Given the description of an element on the screen output the (x, y) to click on. 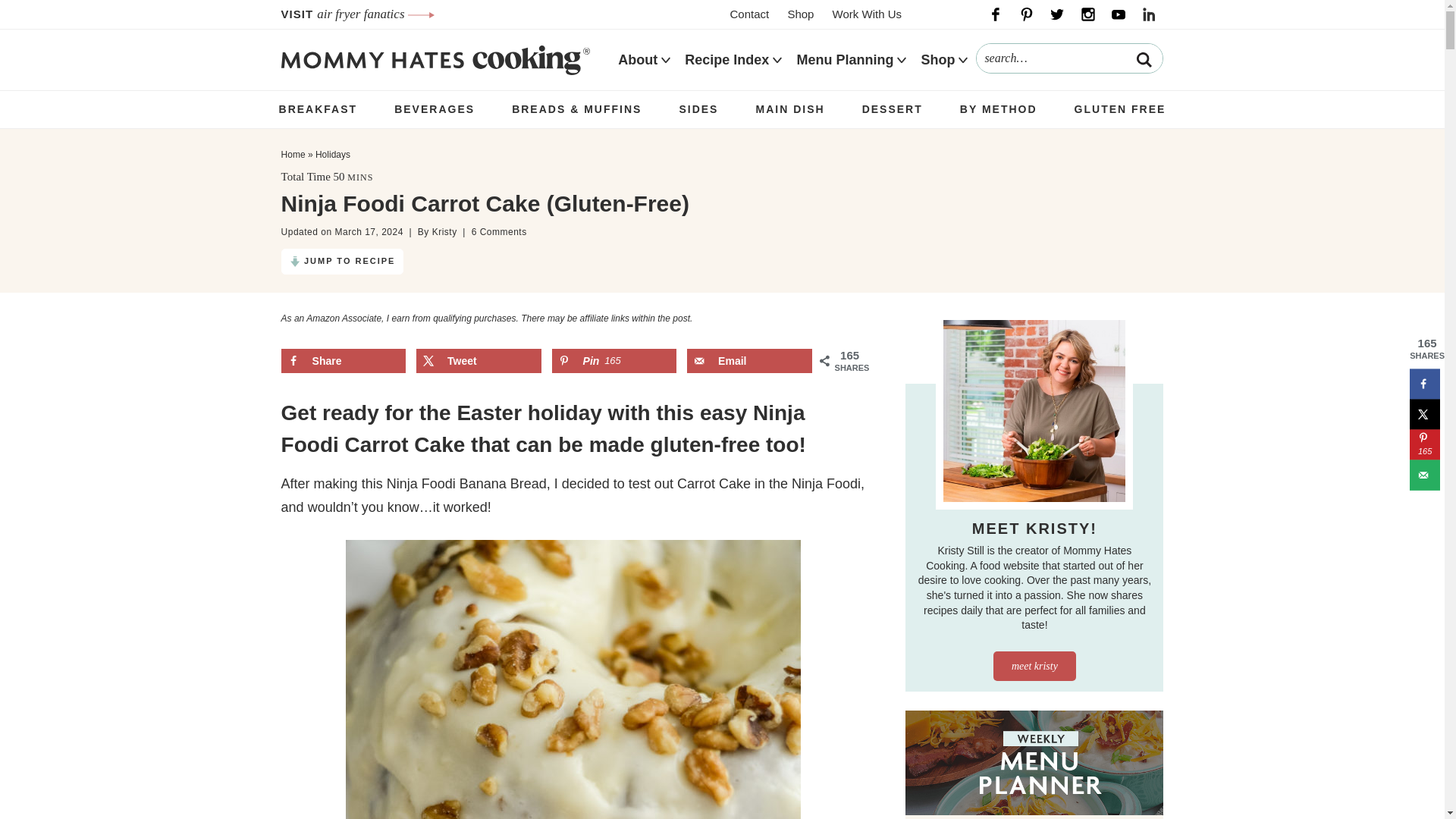
Send over email (749, 360)
Share on X (478, 360)
Work With Us (866, 13)
air fryer fanatics (375, 13)
Share on Facebook (343, 360)
Search for (1068, 58)
Recipe Index (727, 59)
Send over email (1424, 474)
Share on Facebook (1424, 383)
Share on X (1424, 413)
Save to Pinterest (1424, 444)
About (637, 59)
Shop (799, 13)
MOMMY HATES COOKING (435, 59)
Save to Pinterest (614, 360)
